Given the description of an element on the screen output the (x, y) to click on. 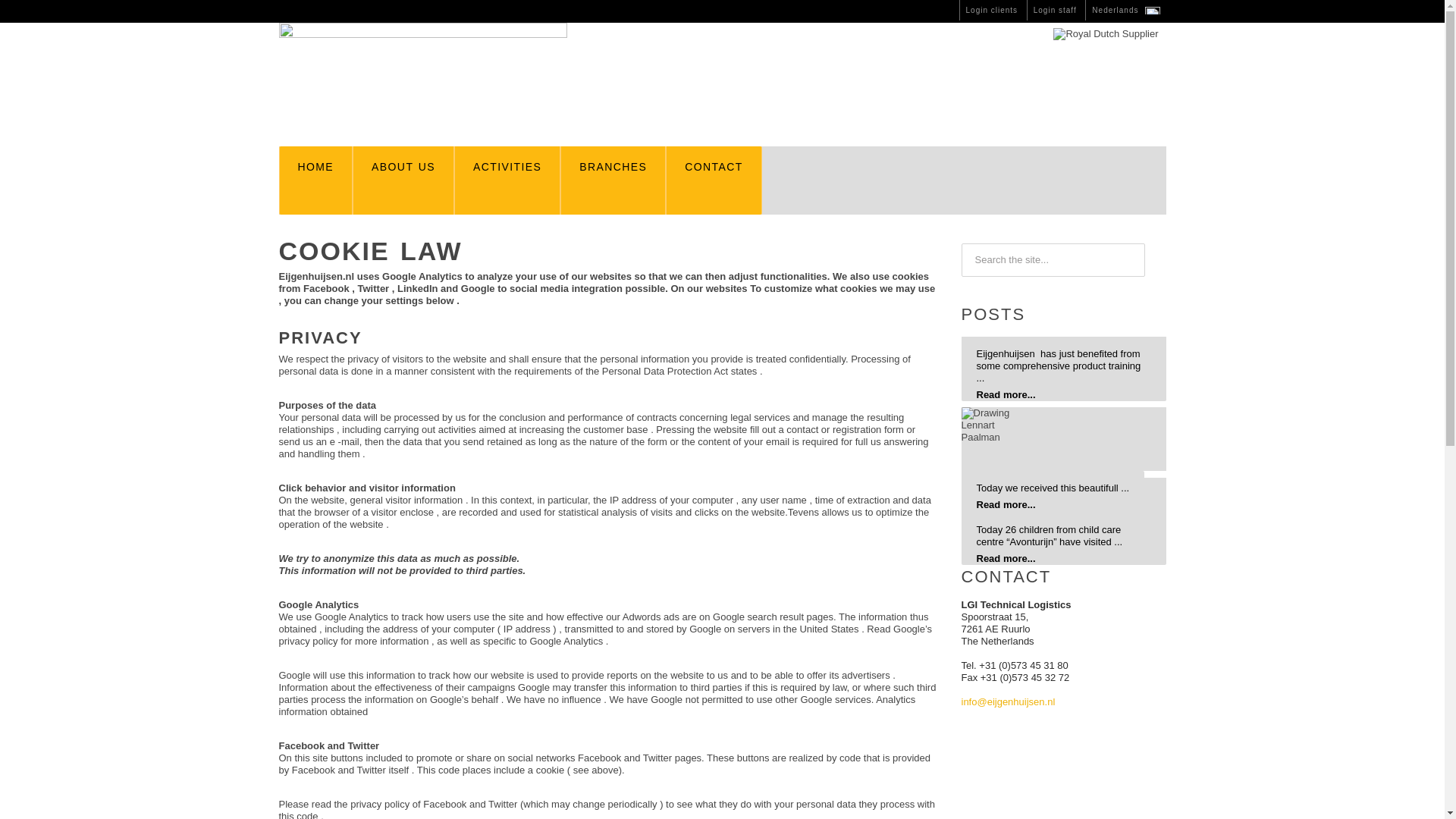
Our focus (612, 180)
HOME (316, 180)
Nederlands (1125, 10)
Read more... (1005, 558)
ACTIVITIES (507, 180)
BRANCHES (612, 180)
Read more... (1005, 504)
Login clients (992, 10)
Supply chain (507, 180)
Precision traffic (403, 180)
